Given the description of an element on the screen output the (x, y) to click on. 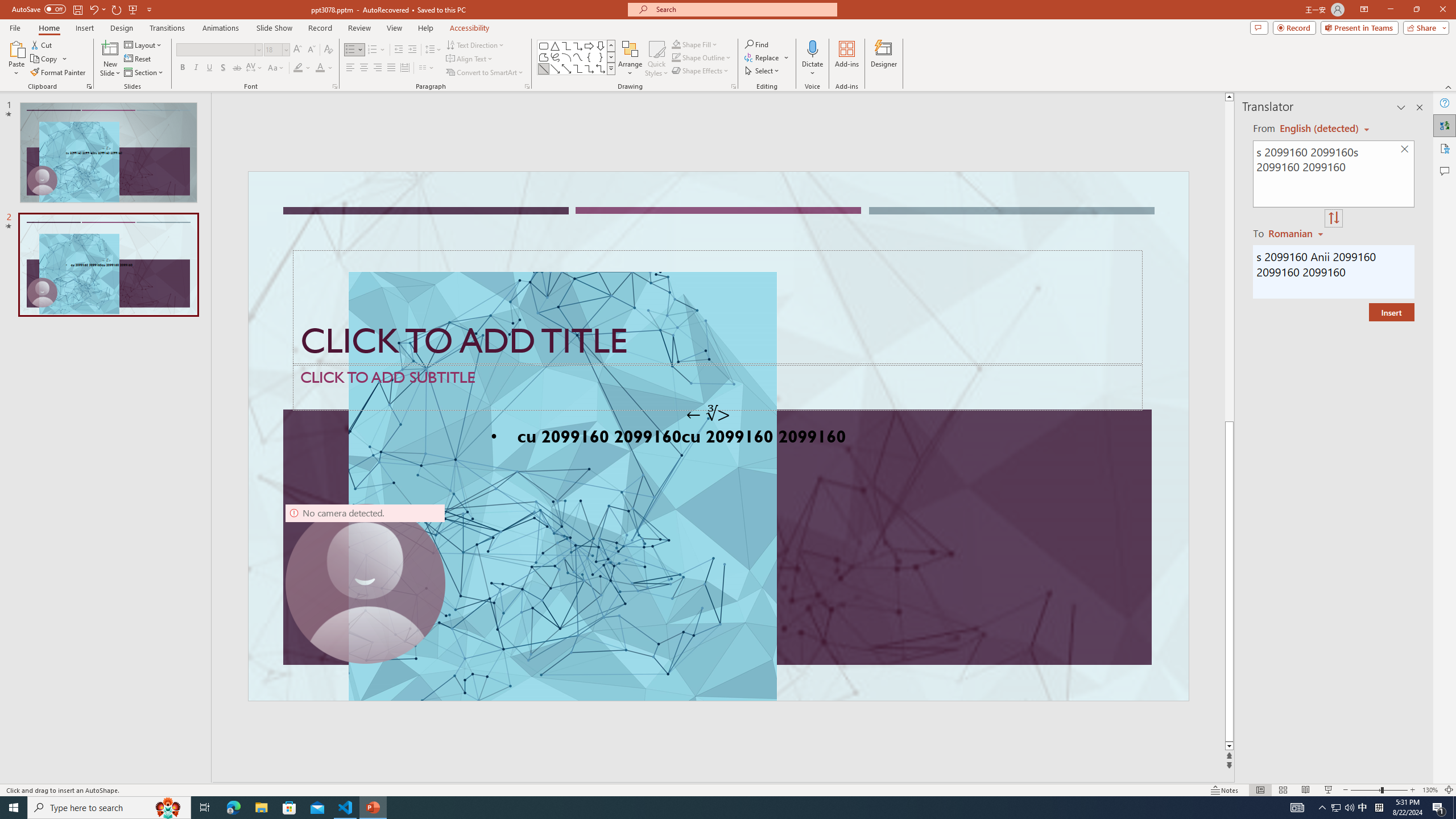
An abstract genetic concept (718, 436)
